Given the description of an element on the screen output the (x, y) to click on. 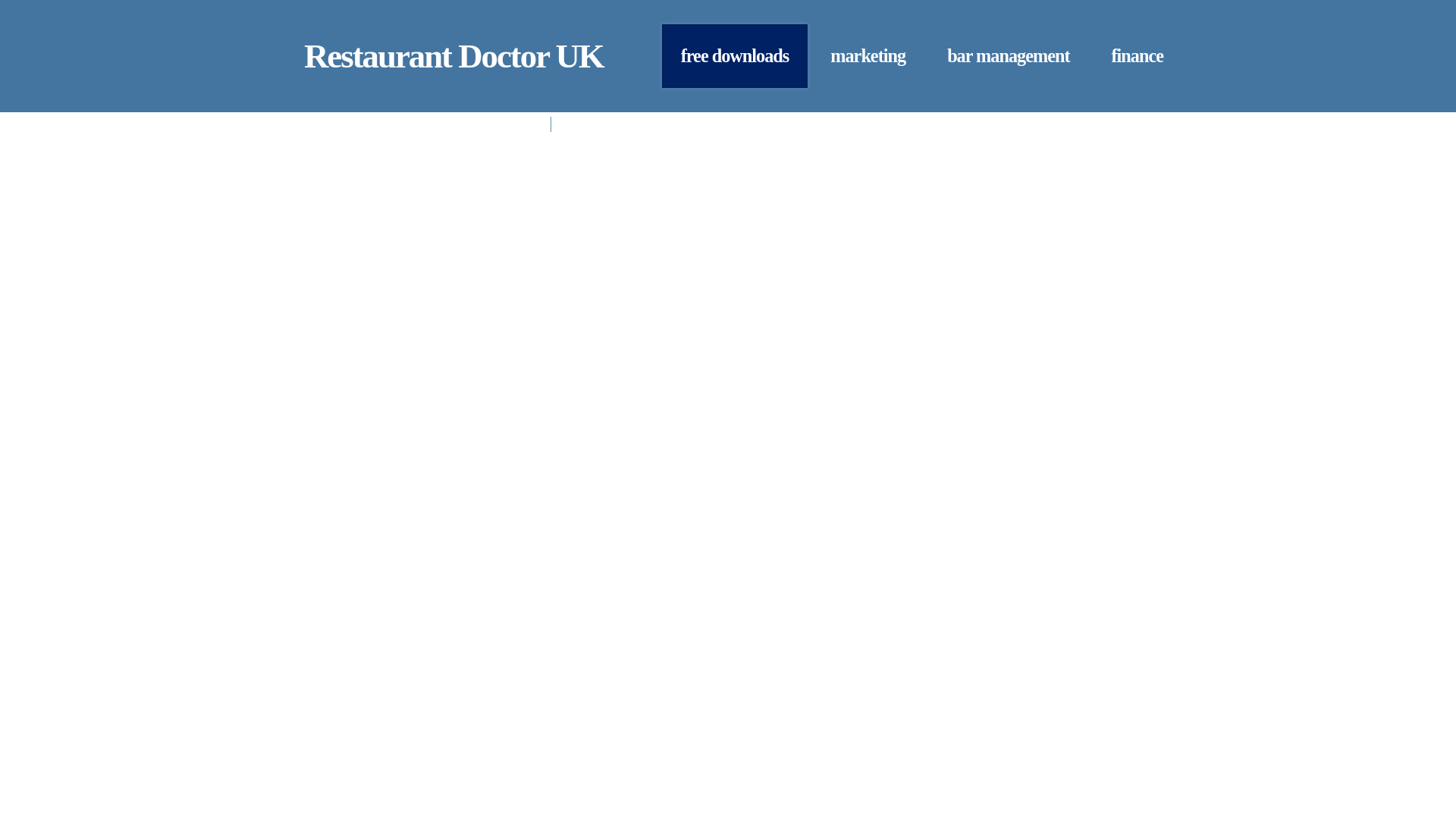
bar management (1007, 55)
marketing (867, 55)
Restaurant Doctor UK (454, 55)
finance (1137, 55)
free downloads (735, 55)
